Given the description of an element on the screen output the (x, y) to click on. 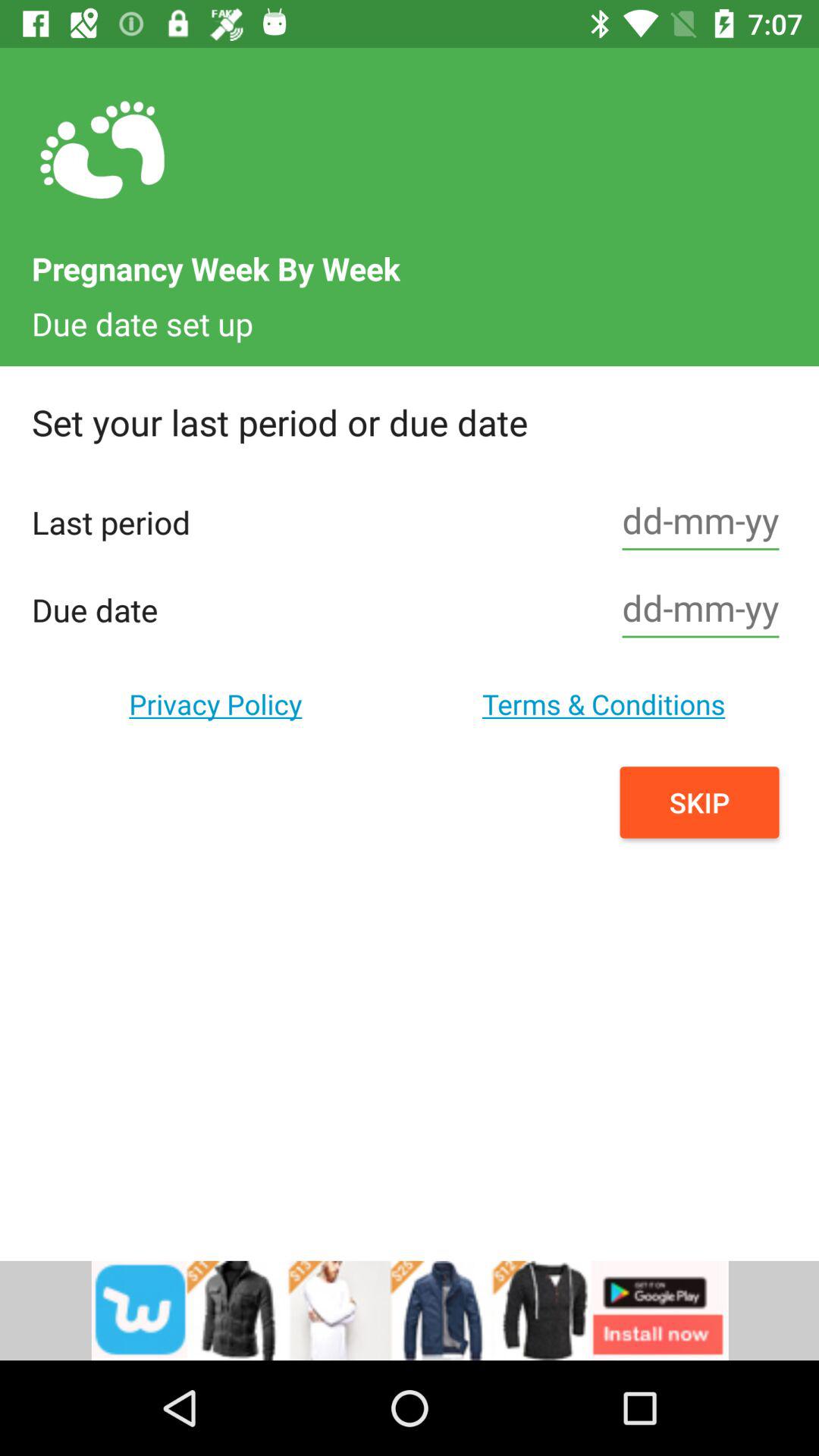
select the icon on top left corner (103, 151)
click on the option below the due date (215, 703)
